Given the description of an element on the screen output the (x, y) to click on. 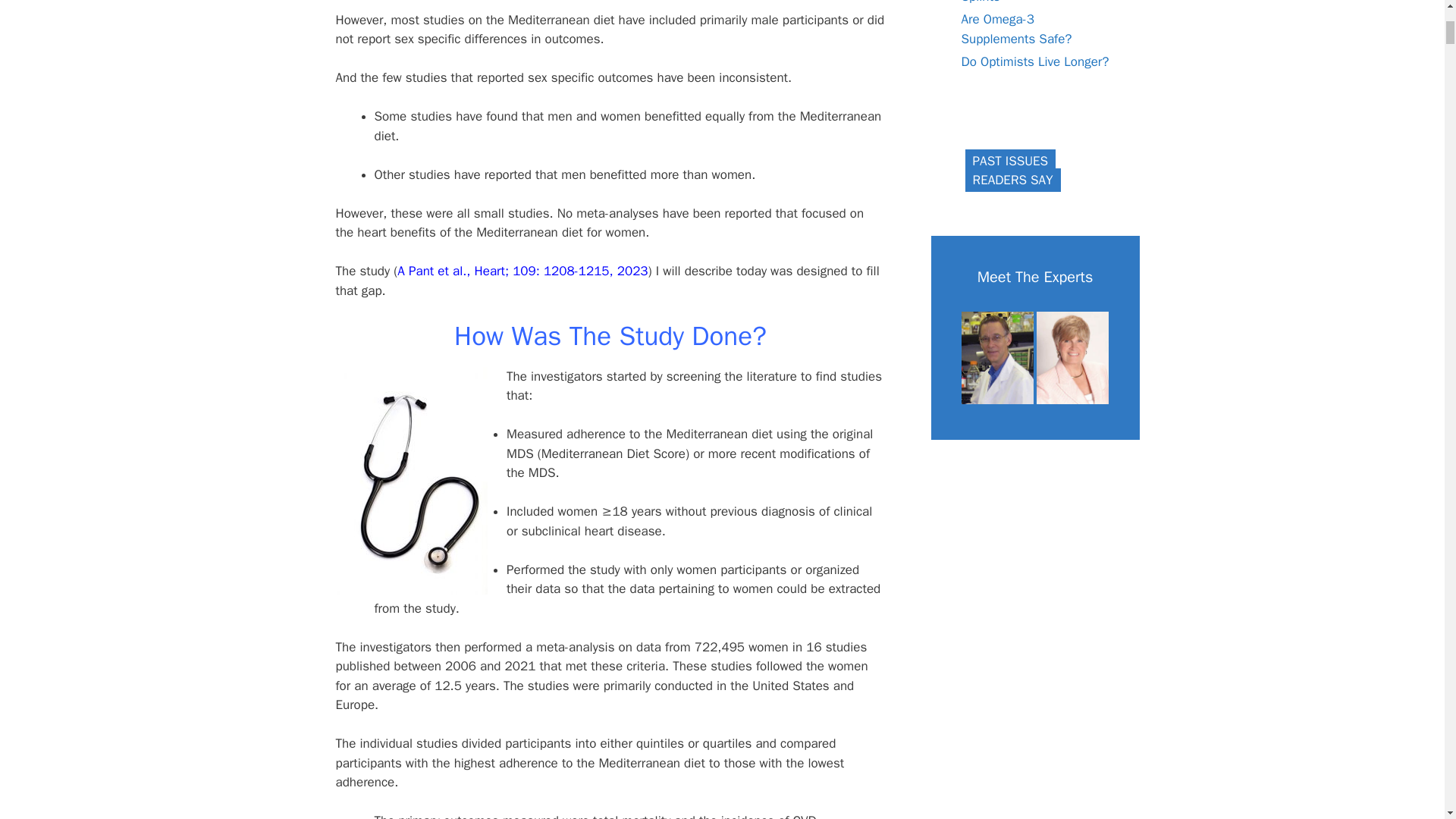
A Pant et al., Heart; 109: 1208-1215, 2023 (522, 270)
Scroll back to top (1406, 720)
